Given the description of an element on the screen output the (x, y) to click on. 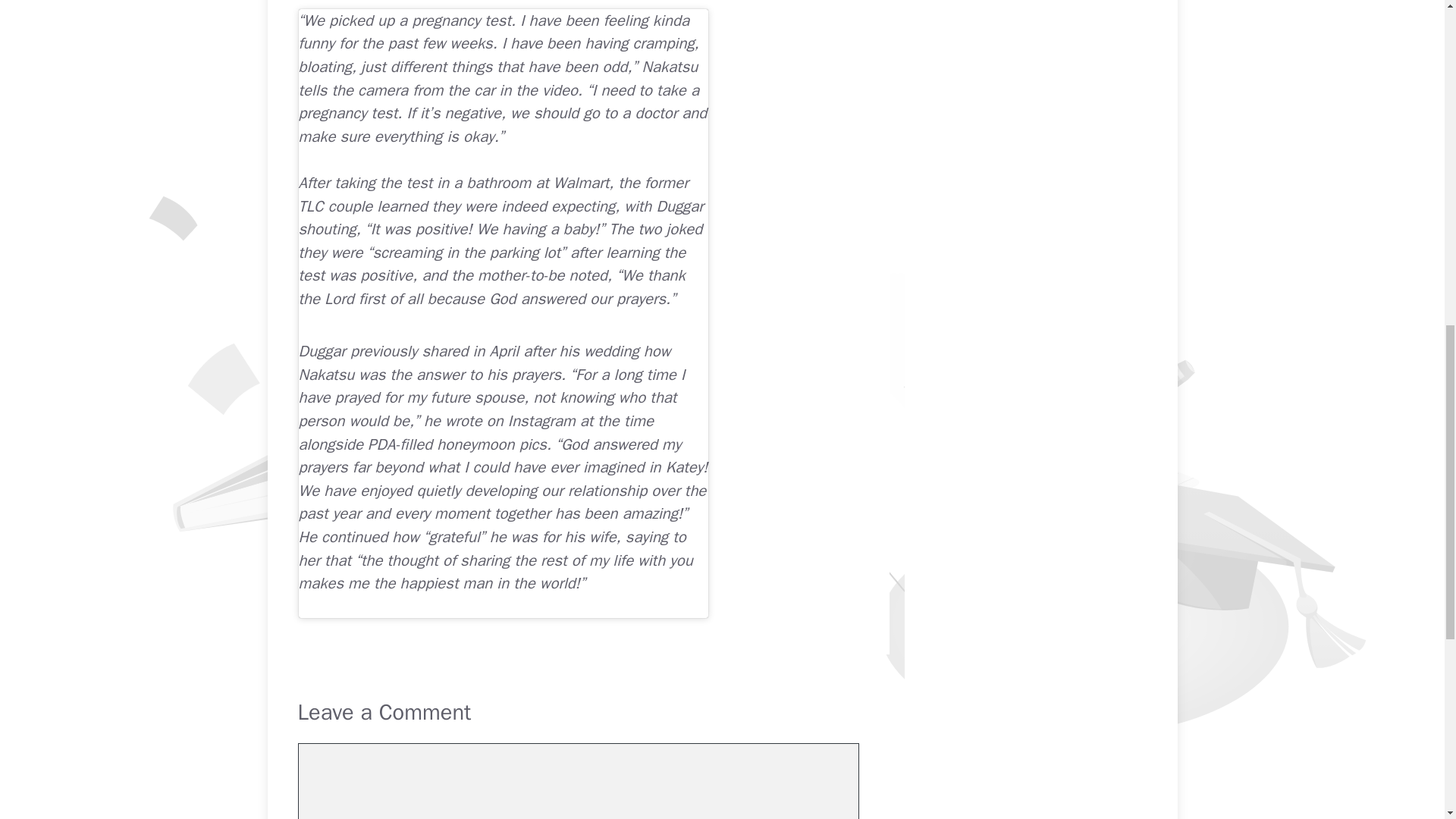
Scroll back to top (1406, 720)
